Given the description of an element on the screen output the (x, y) to click on. 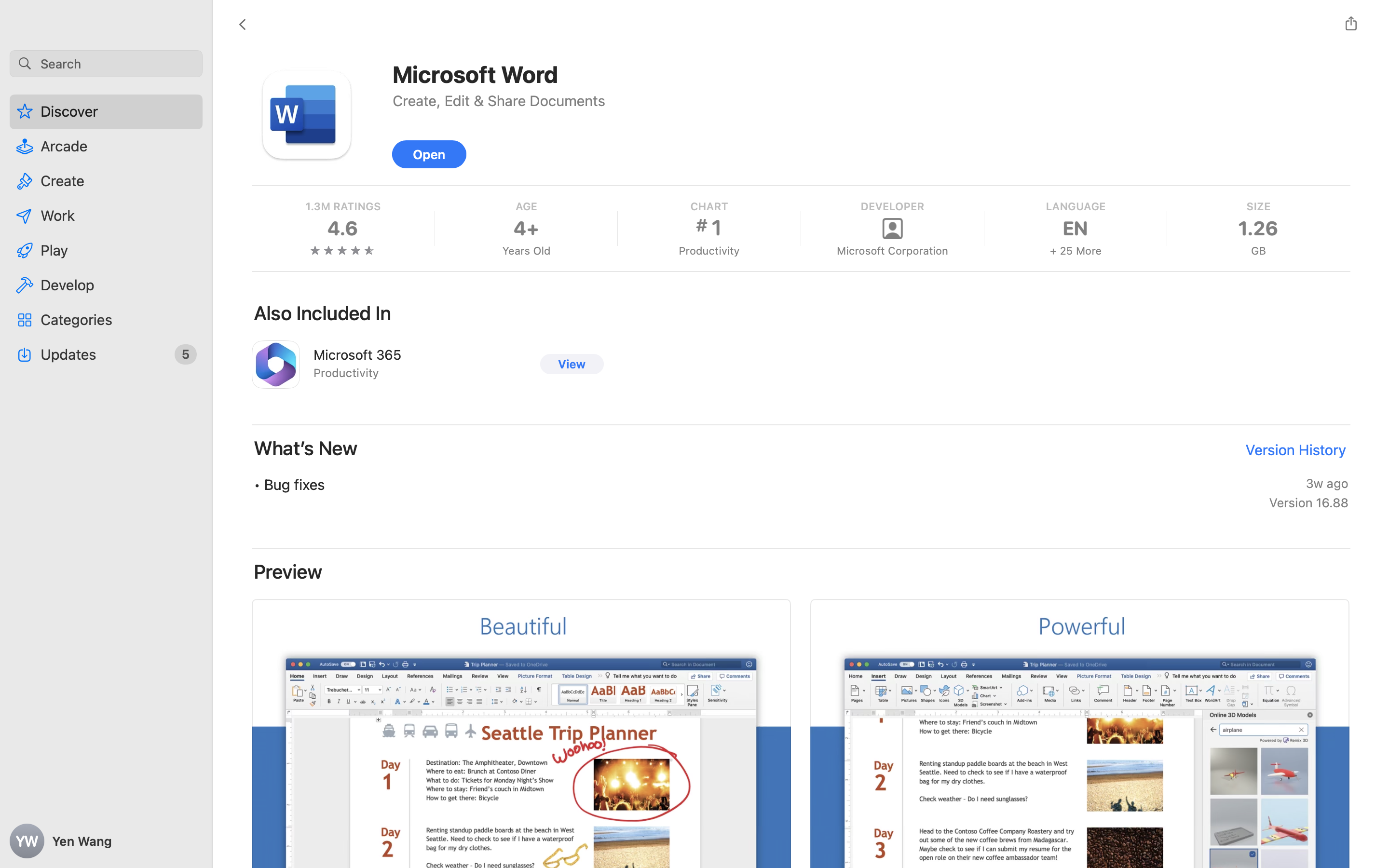
# Element type: AXStaticText (700, 225)
